Given the description of an element on the screen output the (x, y) to click on. 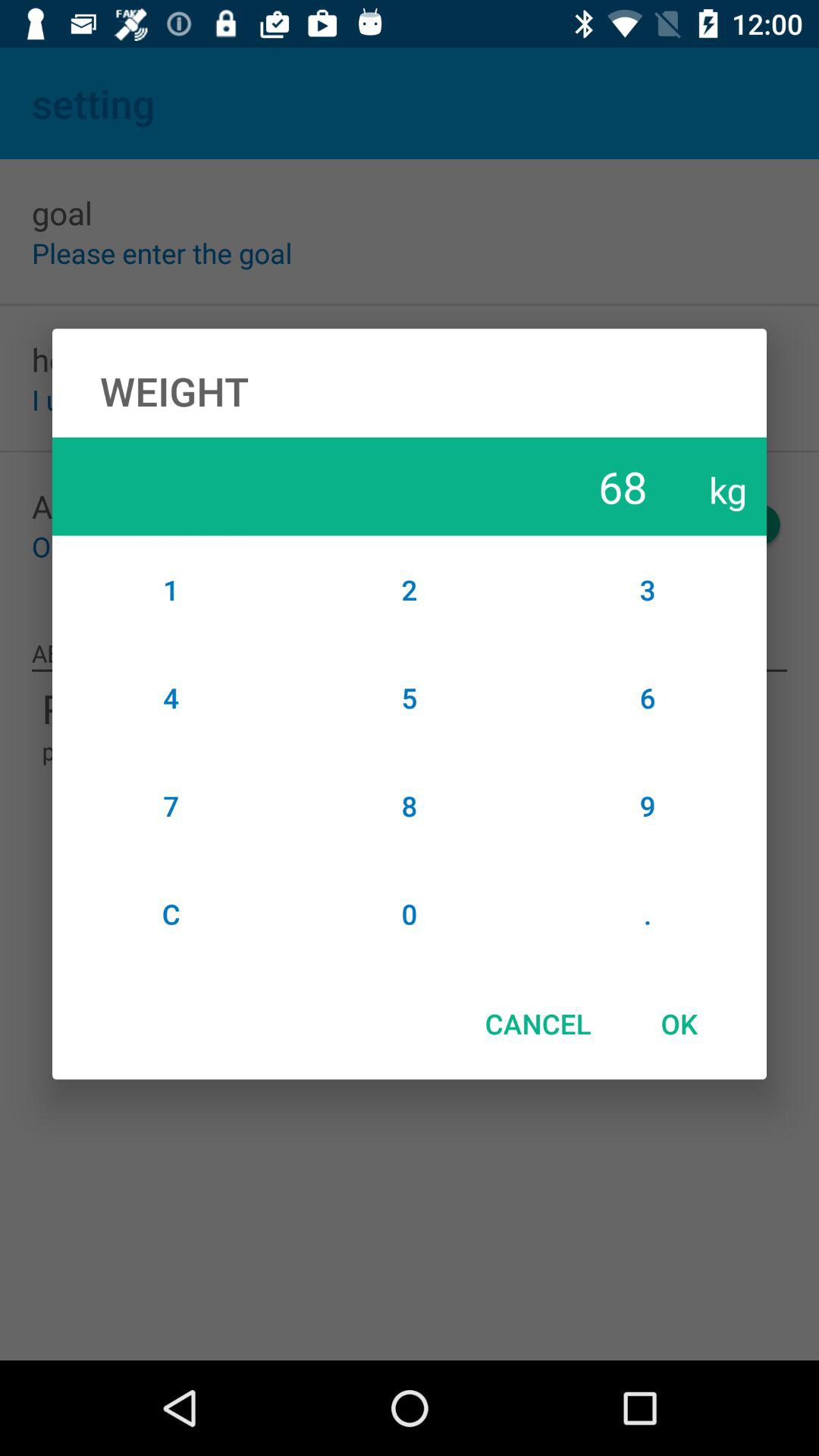
choose the icon to the left of the ok (538, 1023)
